Given the description of an element on the screen output the (x, y) to click on. 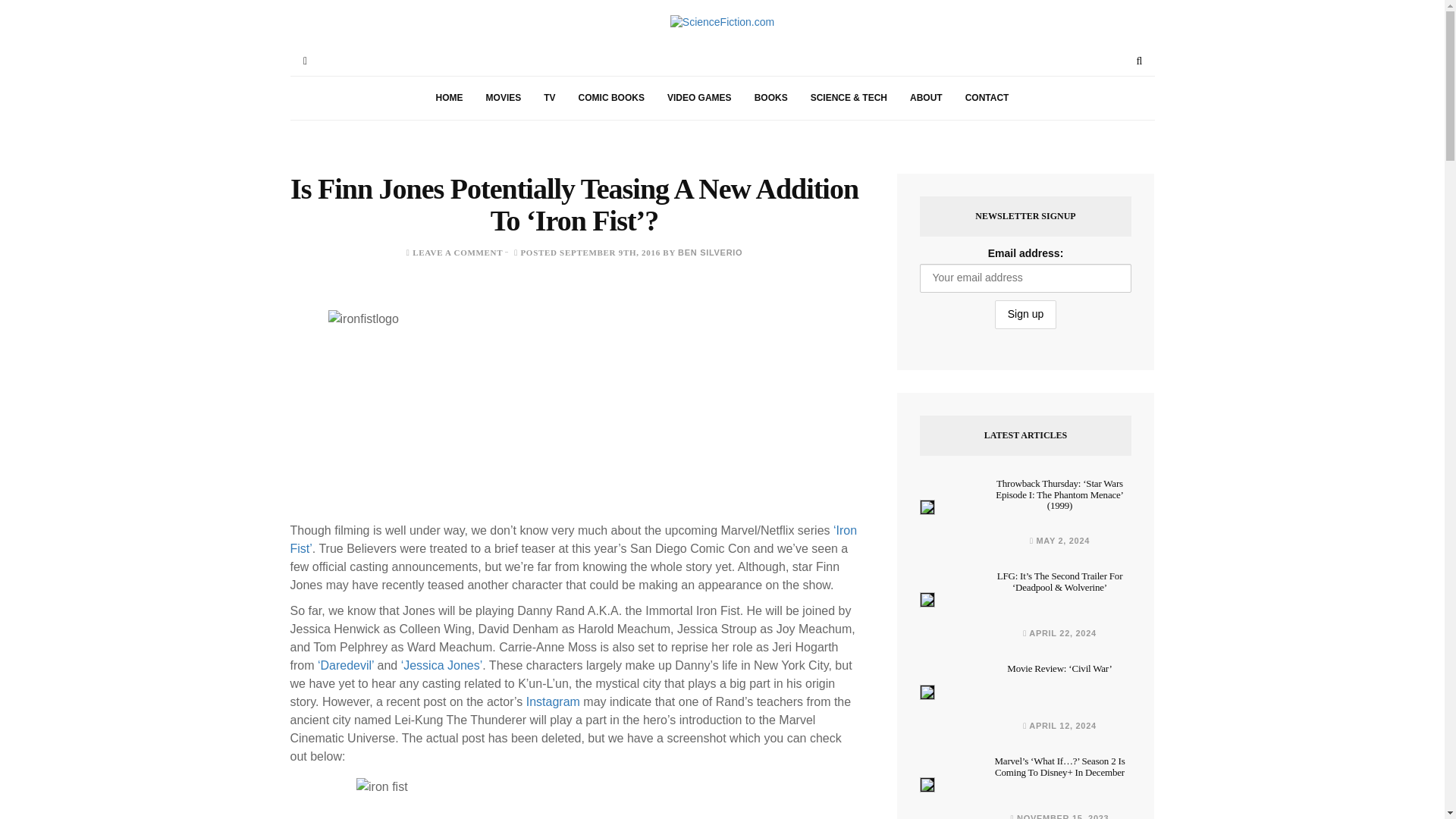
MOVIES (503, 97)
ABOUT (925, 97)
Search (1139, 60)
LEAVE A COMMENT (457, 252)
BEN SILVERIO (710, 252)
COMIC BOOKS (611, 97)
Sign up (1025, 314)
HOME (449, 97)
Posts by Ben Silverio (710, 252)
BOOKS (770, 97)
